Given the description of an element on the screen output the (x, y) to click on. 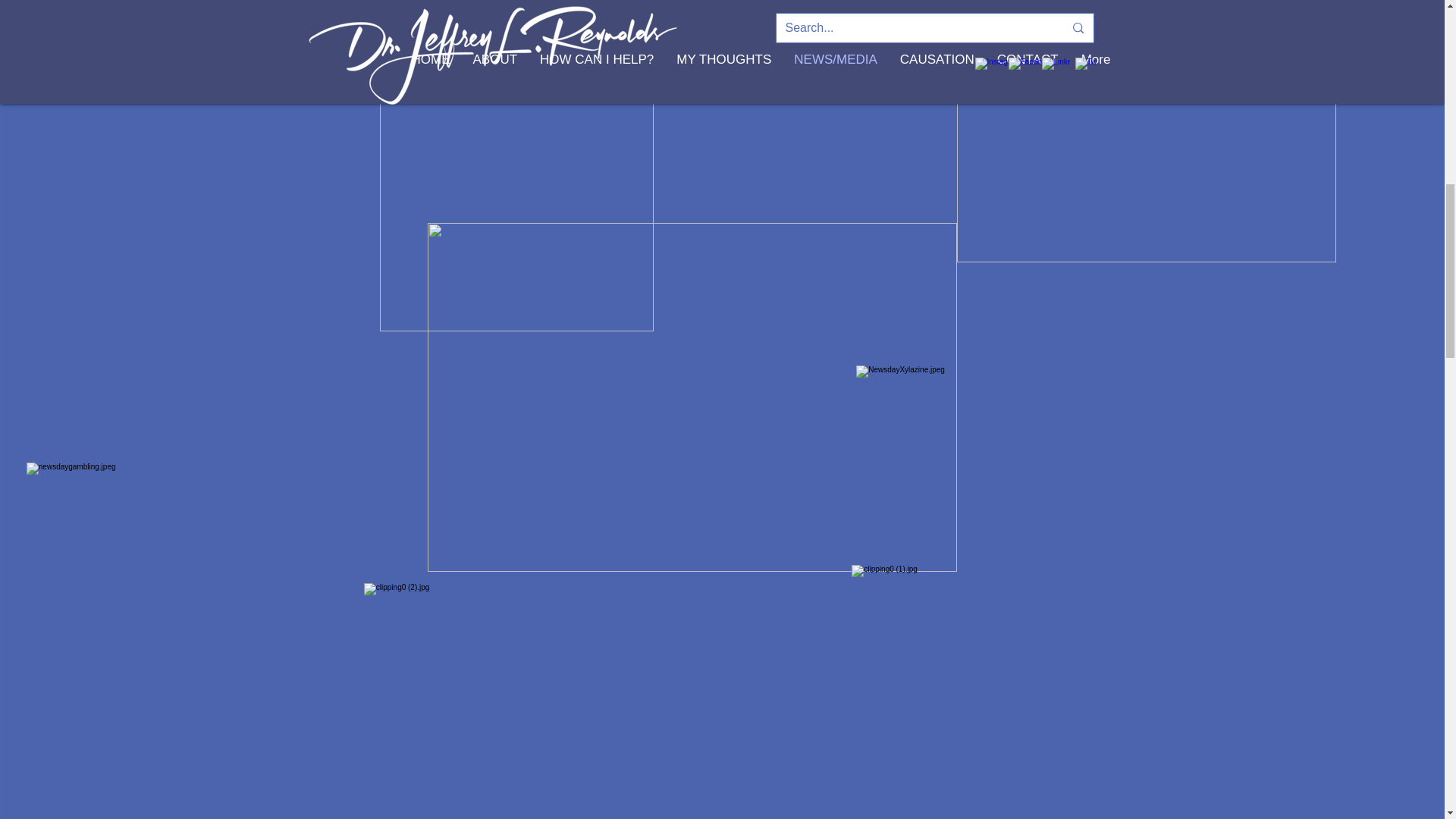
clipping0 copy.jpg (516, 200)
GovMentalHealthTour.jpeg (1146, 162)
